Given the description of an element on the screen output the (x, y) to click on. 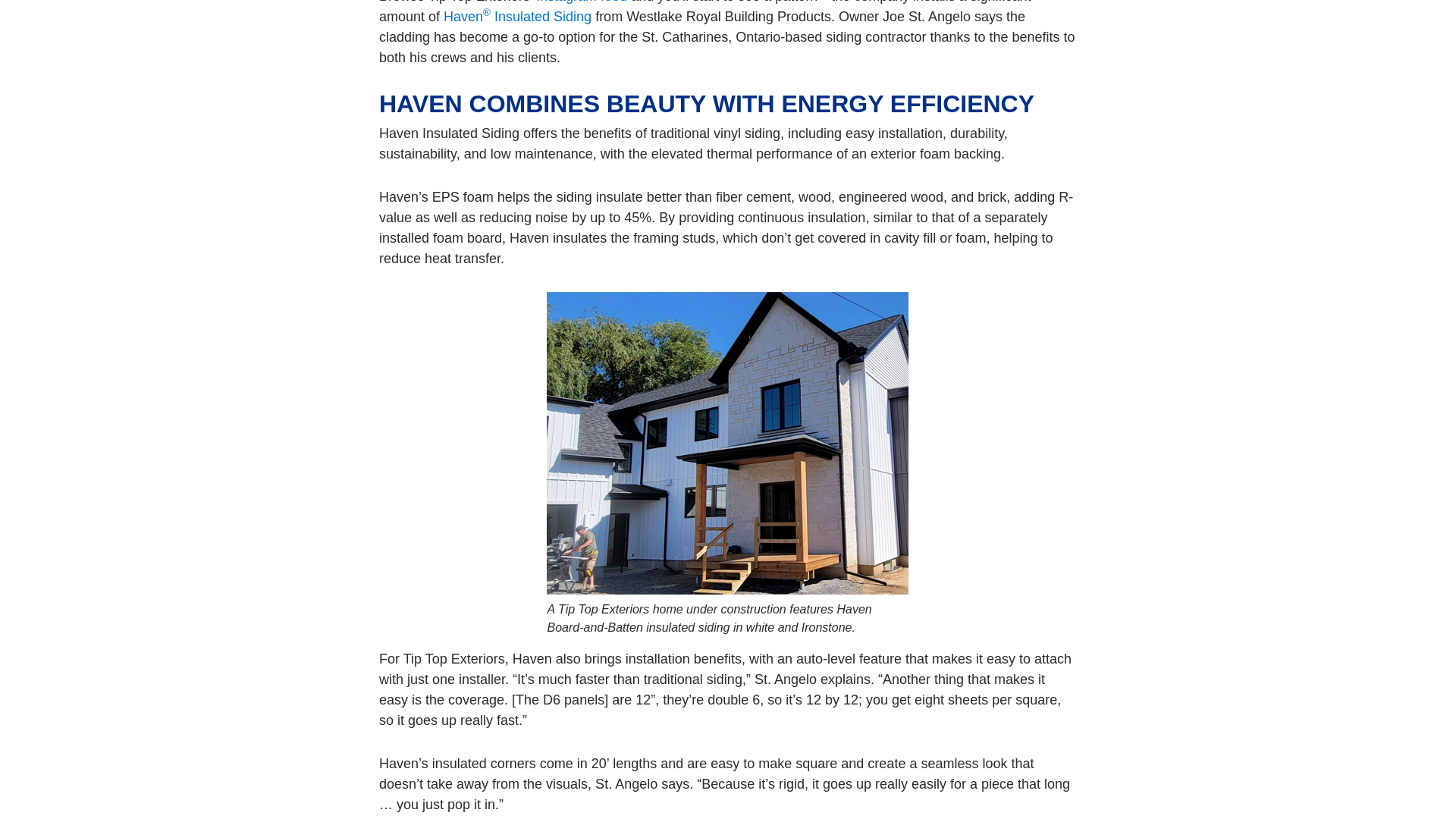
Instagram feed (581, 1)
